Given the description of an element on the screen output the (x, y) to click on. 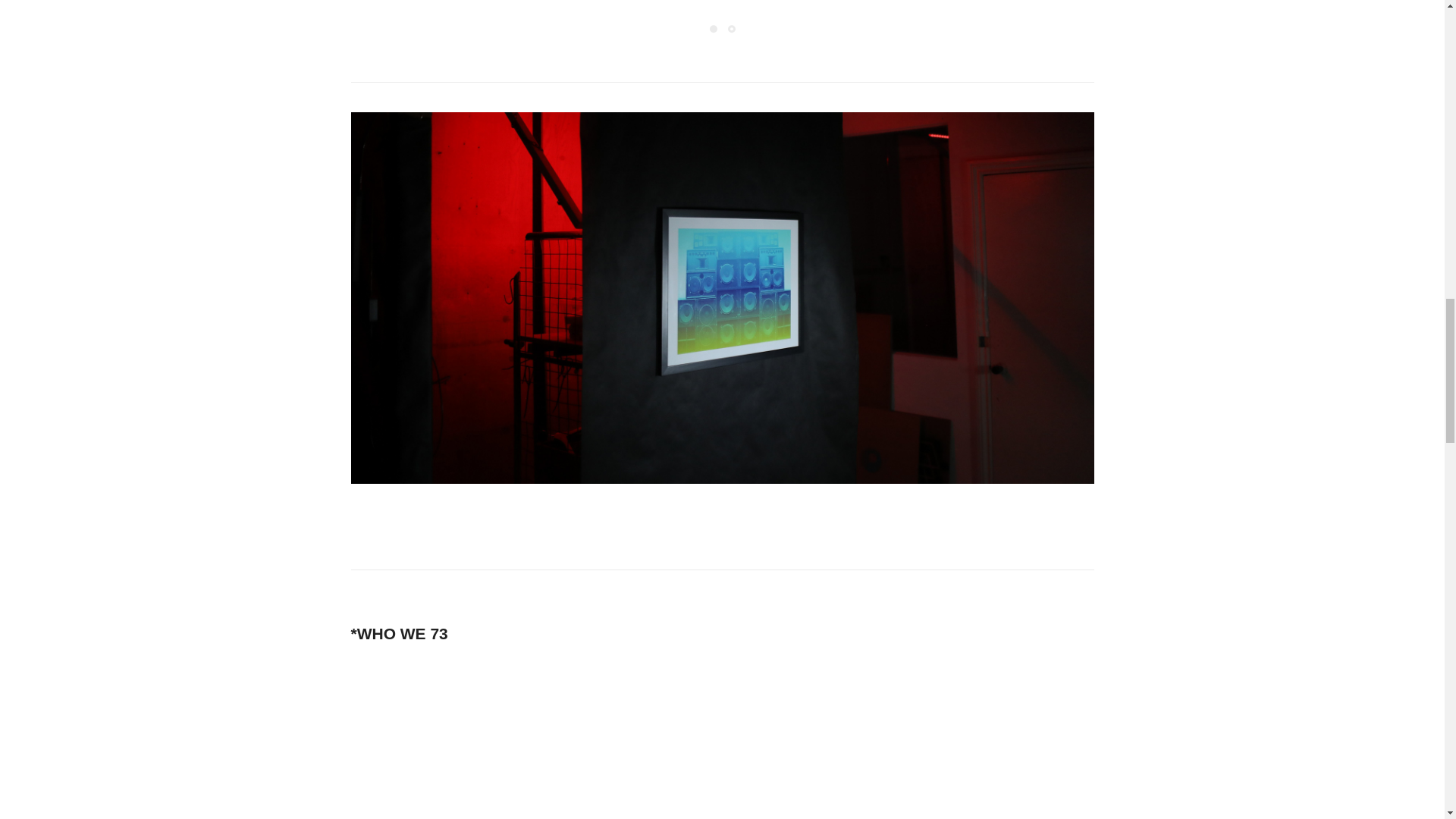
Welcome to New Studio 73 (721, 739)
